Given the description of an element on the screen output the (x, y) to click on. 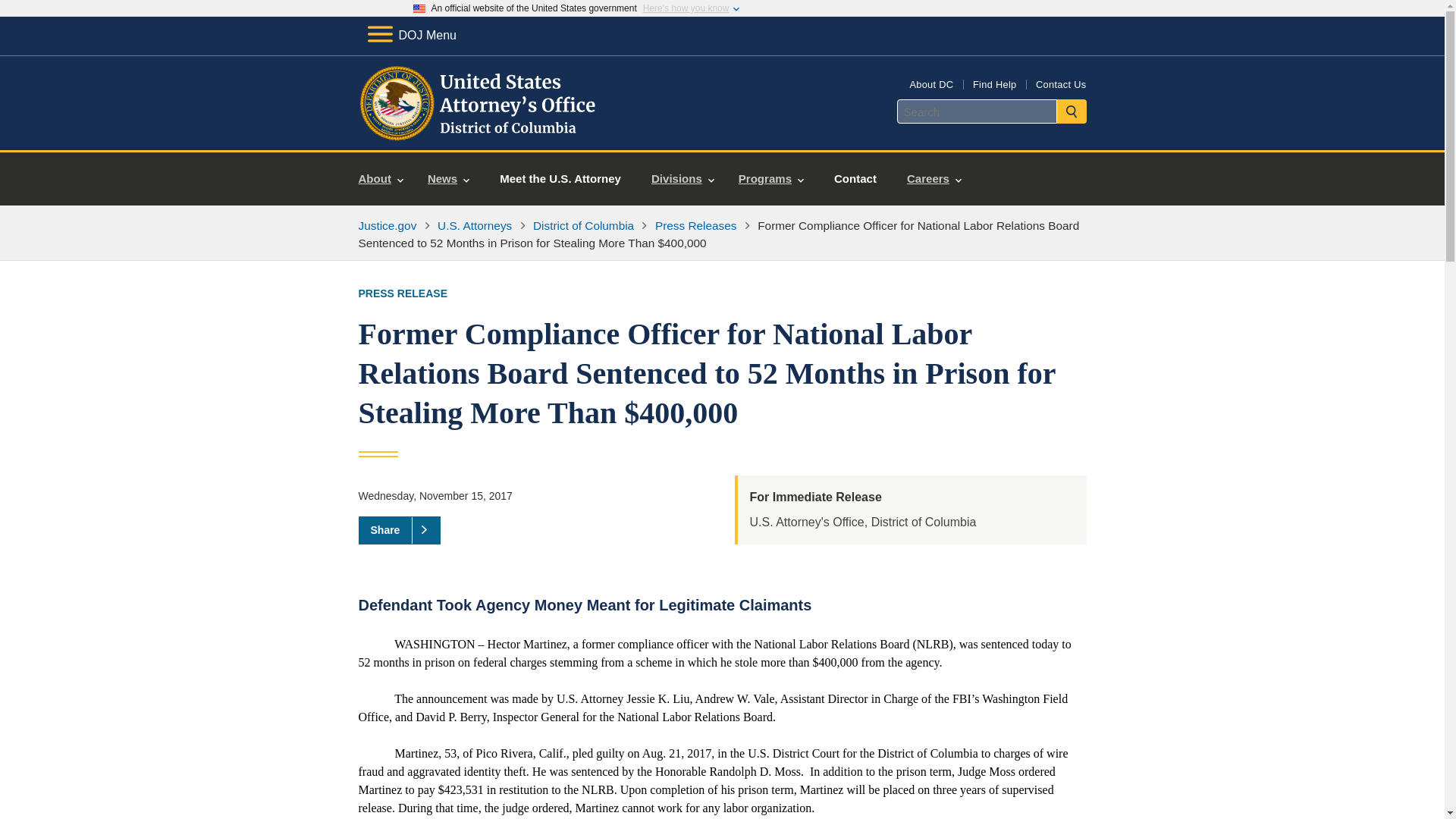
About (380, 179)
Programs (770, 179)
Find Help (994, 84)
Contact Us (1060, 84)
About DC (930, 84)
DOJ Menu (411, 35)
Press Releases (695, 225)
Justice.gov (387, 225)
Here's how you know (686, 8)
Contact (855, 179)
Divisions (682, 179)
Careers (934, 179)
U.S. Attorneys (475, 225)
District of Columbia (582, 225)
Home (478, 132)
